Given the description of an element on the screen output the (x, y) to click on. 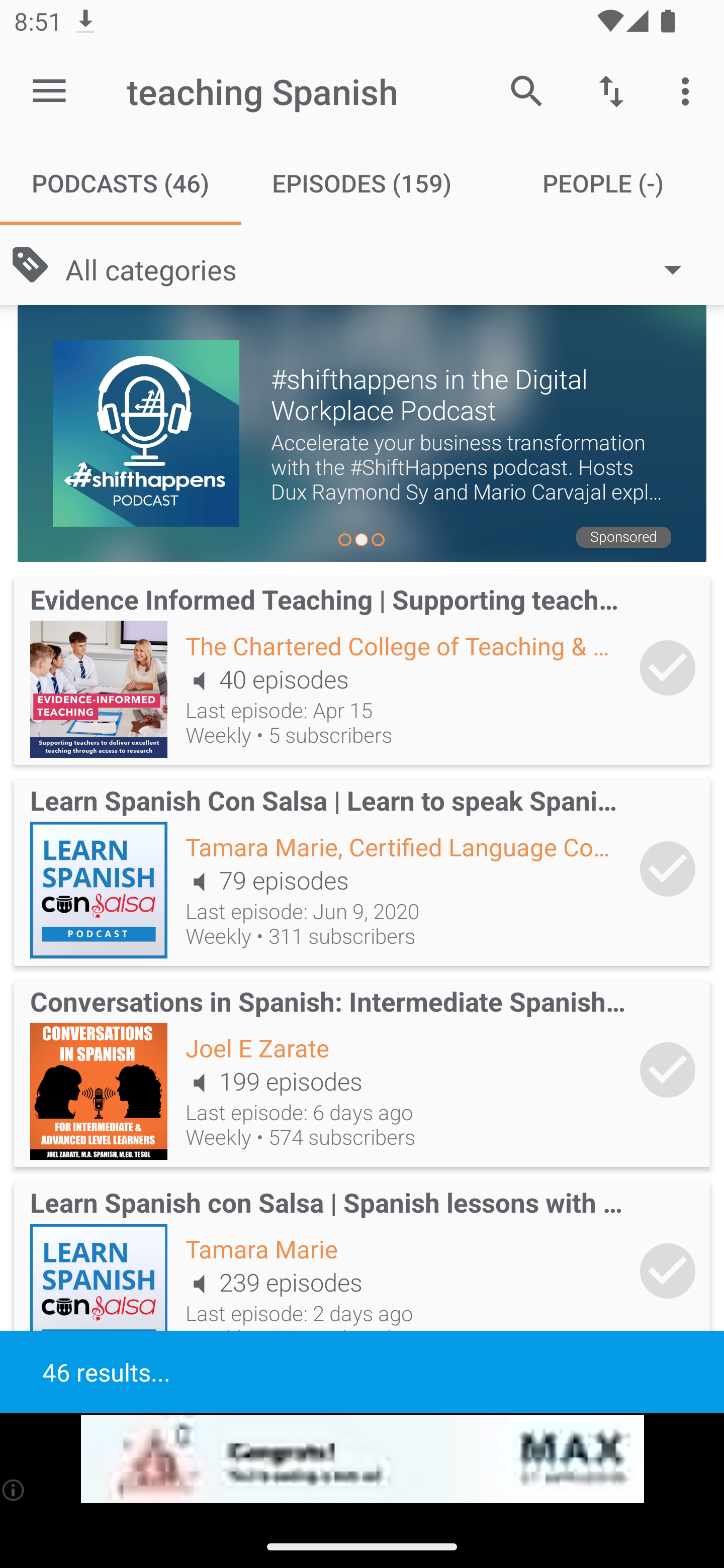
Open navigation sidebar (49, 91)
Search (526, 90)
Sort (611, 90)
More options (688, 90)
Episodes (159) EPISODES (159) (361, 183)
People (-) PEOPLE (-) (603, 183)
All categories (383, 268)
Add (667, 667)
Add (667, 868)
Add (667, 1069)
Add (667, 1271)
app-monetization (362, 1459)
(i) (14, 1489)
